Given the description of an element on the screen output the (x, y) to click on. 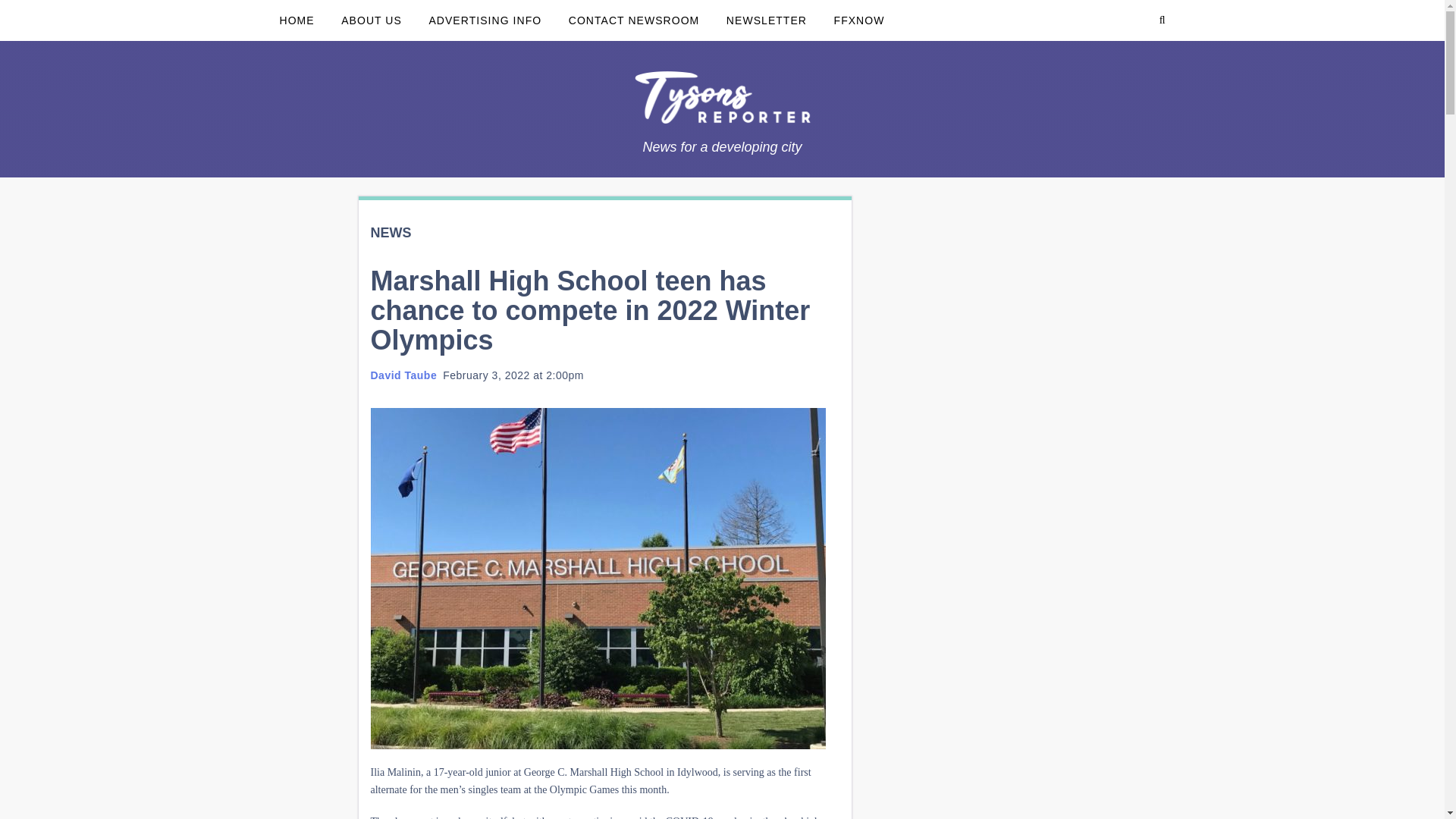
NEWSLETTER (766, 20)
NEWS (389, 232)
Posts by David Taube (402, 375)
CONTACT NEWSROOM (633, 20)
ABOUT US (371, 20)
ADVERTISING INFO (484, 20)
FFXNOW (859, 20)
David Taube (402, 375)
